Given the description of an element on the screen output the (x, y) to click on. 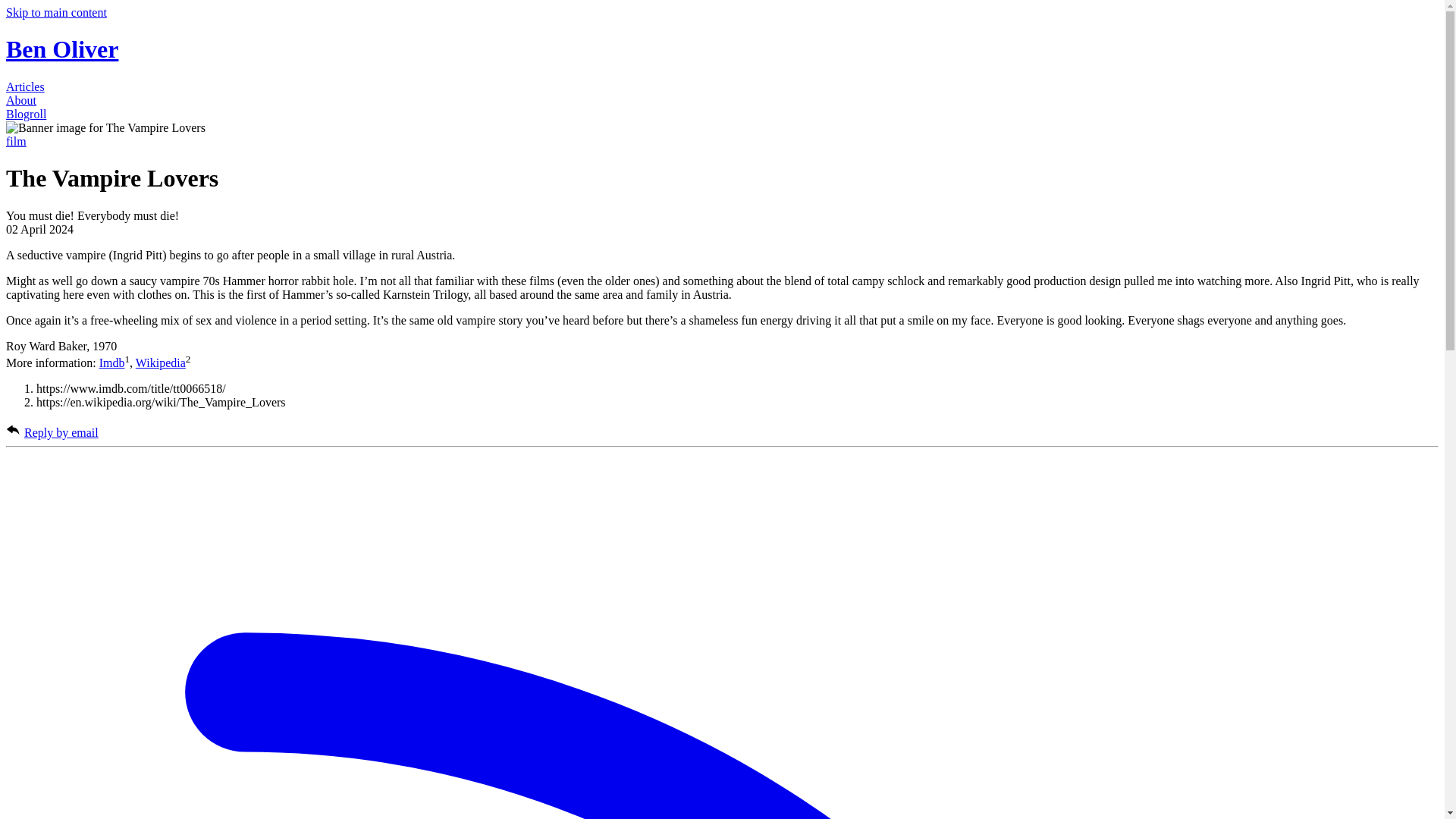
Reply by email (61, 431)
About (20, 100)
Skip to main content (55, 11)
Blogroll (25, 113)
Wikipedia (160, 362)
Articles (25, 86)
Imdb (112, 362)
film (15, 141)
